Given the description of an element on the screen output the (x, y) to click on. 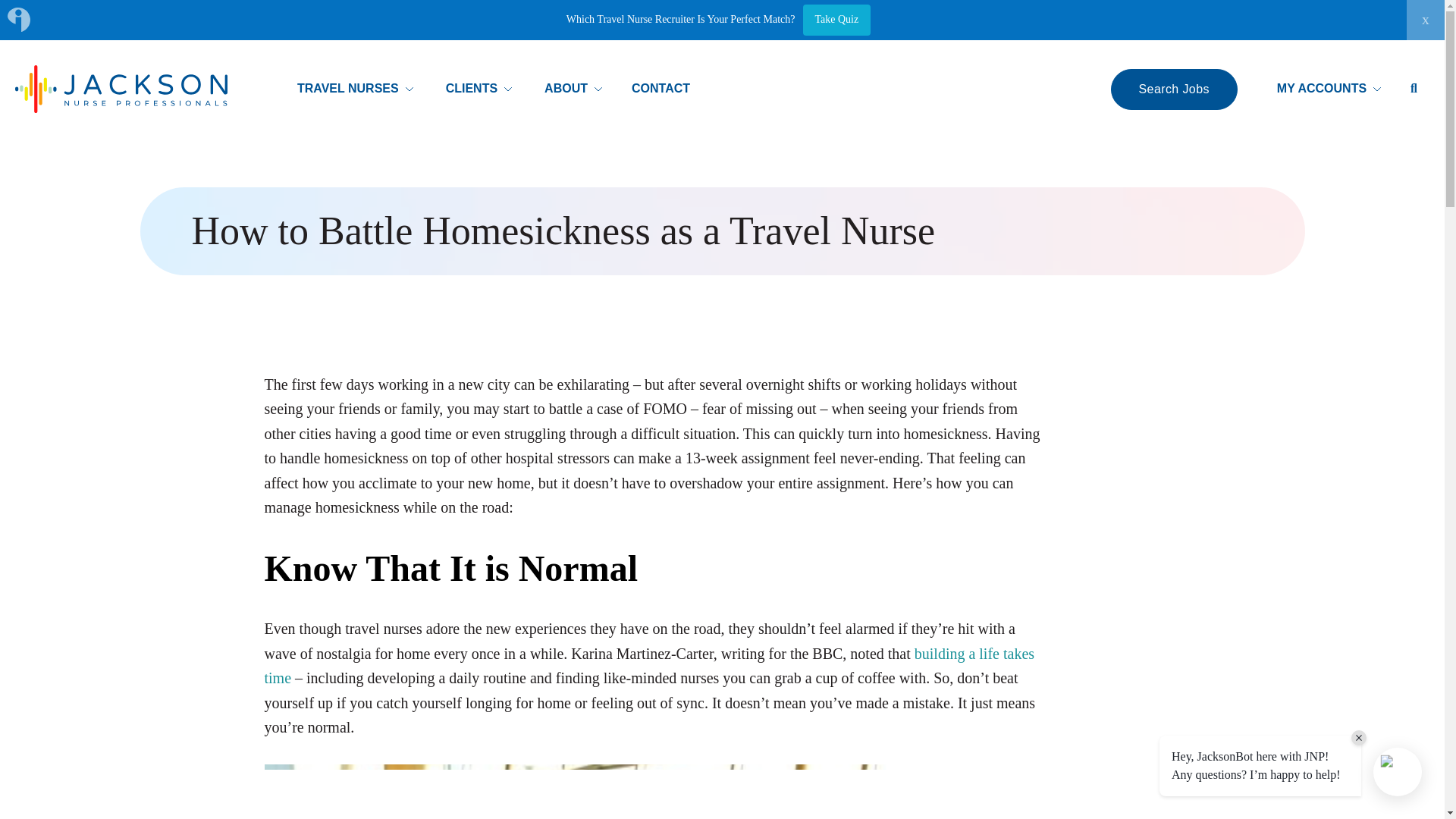
Take Quiz (836, 20)
ABOUT (573, 88)
CLIENTS (479, 88)
TRAVEL NURSES (356, 88)
Jackson Nurse Professionals (120, 88)
